Given the description of an element on the screen output the (x, y) to click on. 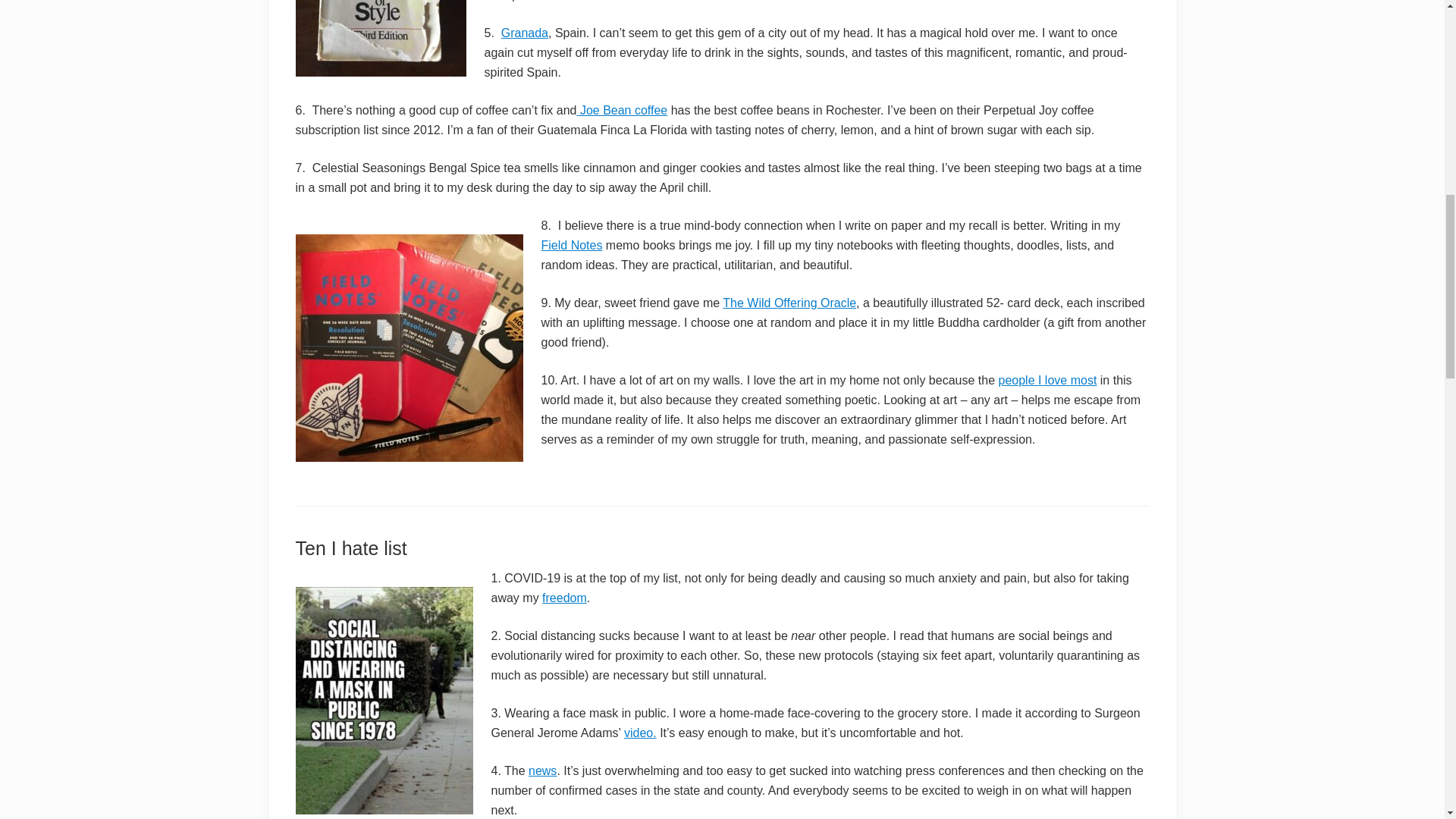
Field Notes (571, 245)
 Joe Bean coffee (621, 110)
Granada (524, 32)
